Given the description of an element on the screen output the (x, y) to click on. 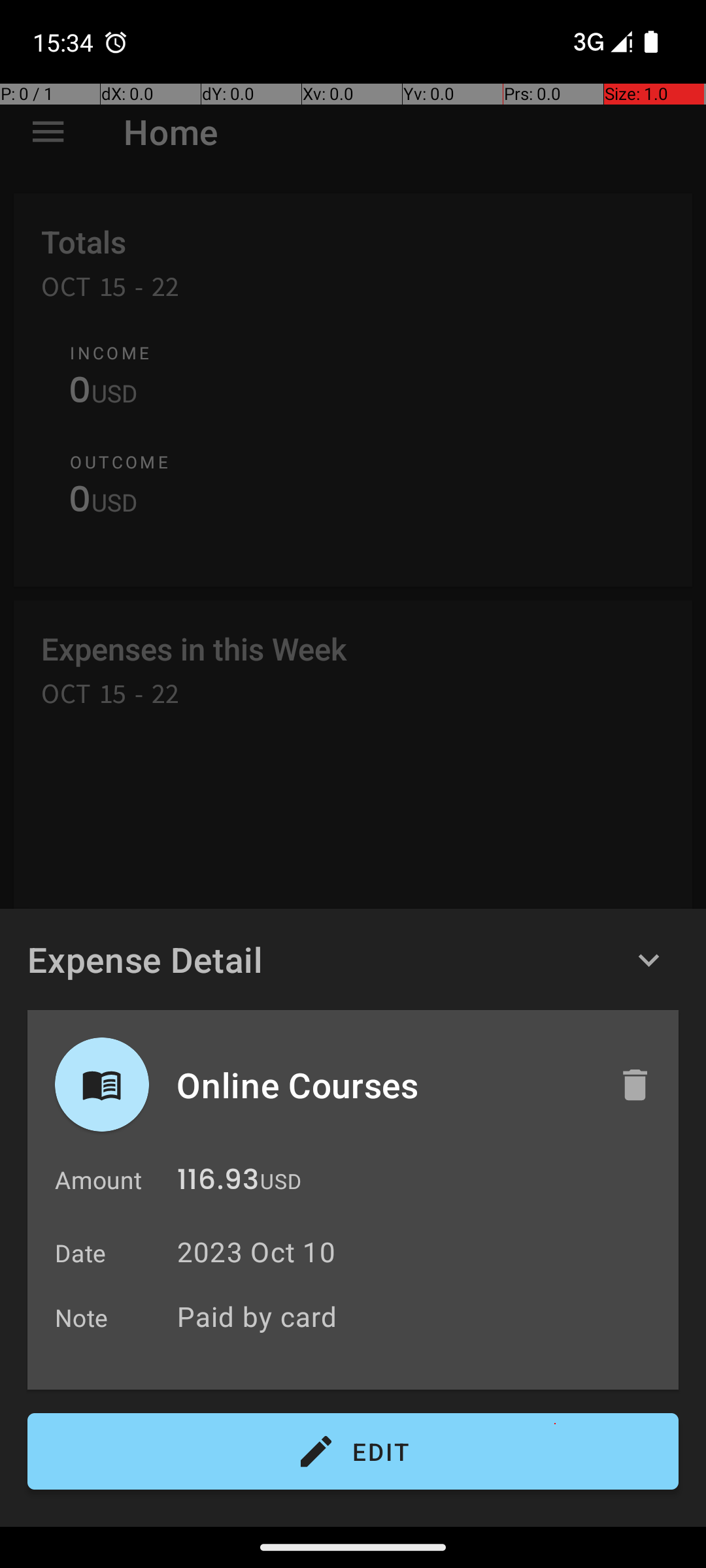
Online Courses Element type: android.widget.TextView (383, 1084)
116.93 Element type: android.widget.TextView (217, 1182)
